Given the description of an element on the screen output the (x, y) to click on. 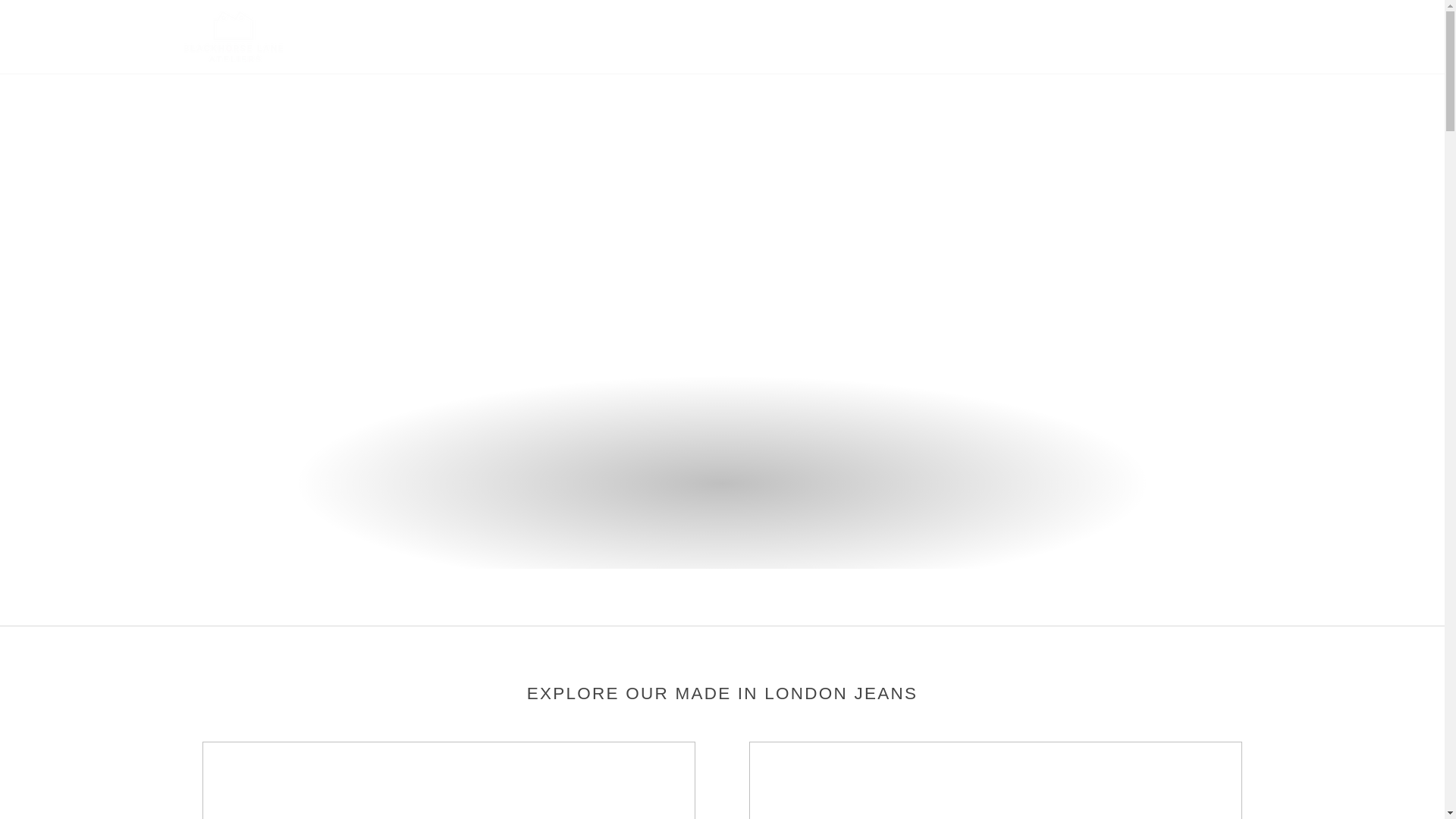
BECOME A MEMBER (1075, 35)
